Given the description of an element on the screen output the (x, y) to click on. 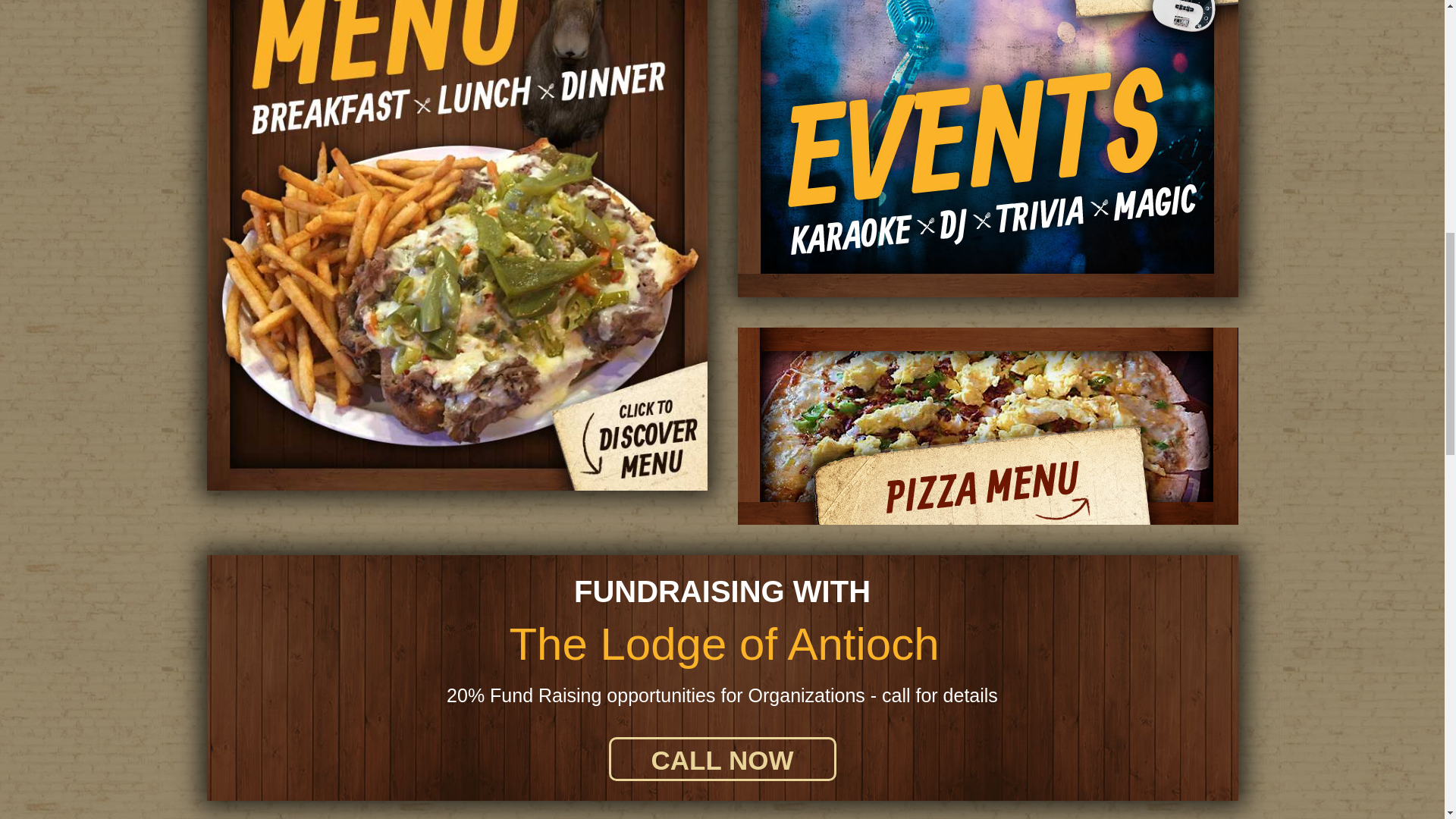
CALL NOW (721, 759)
